Given the description of an element on the screen output the (x, y) to click on. 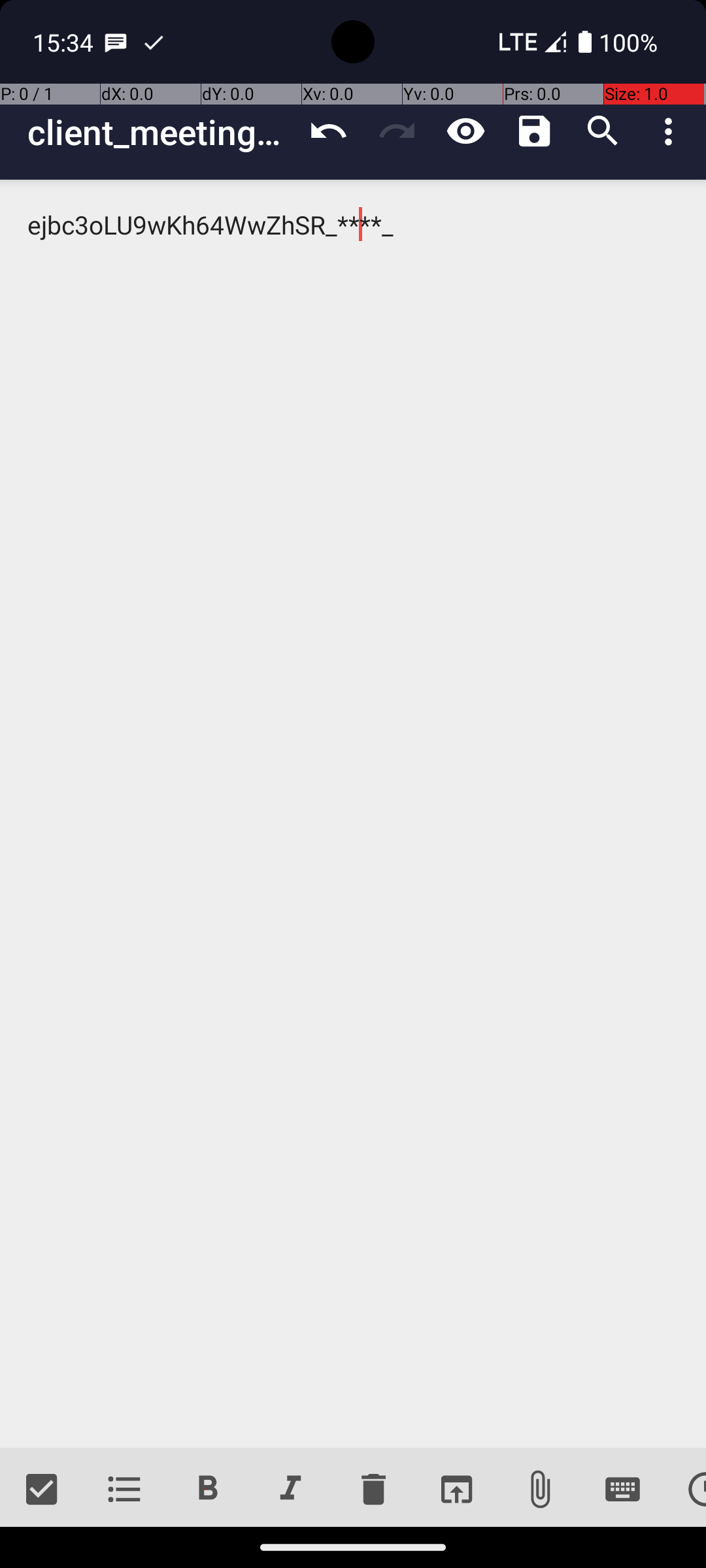
client_meetings_schedule_2023_08_13 Element type: android.widget.TextView (160, 131)
ejbc3oLU9wKh64WwZhSR_****_
 Element type: android.widget.EditText (353, 813)
